Given the description of an element on the screen output the (x, y) to click on. 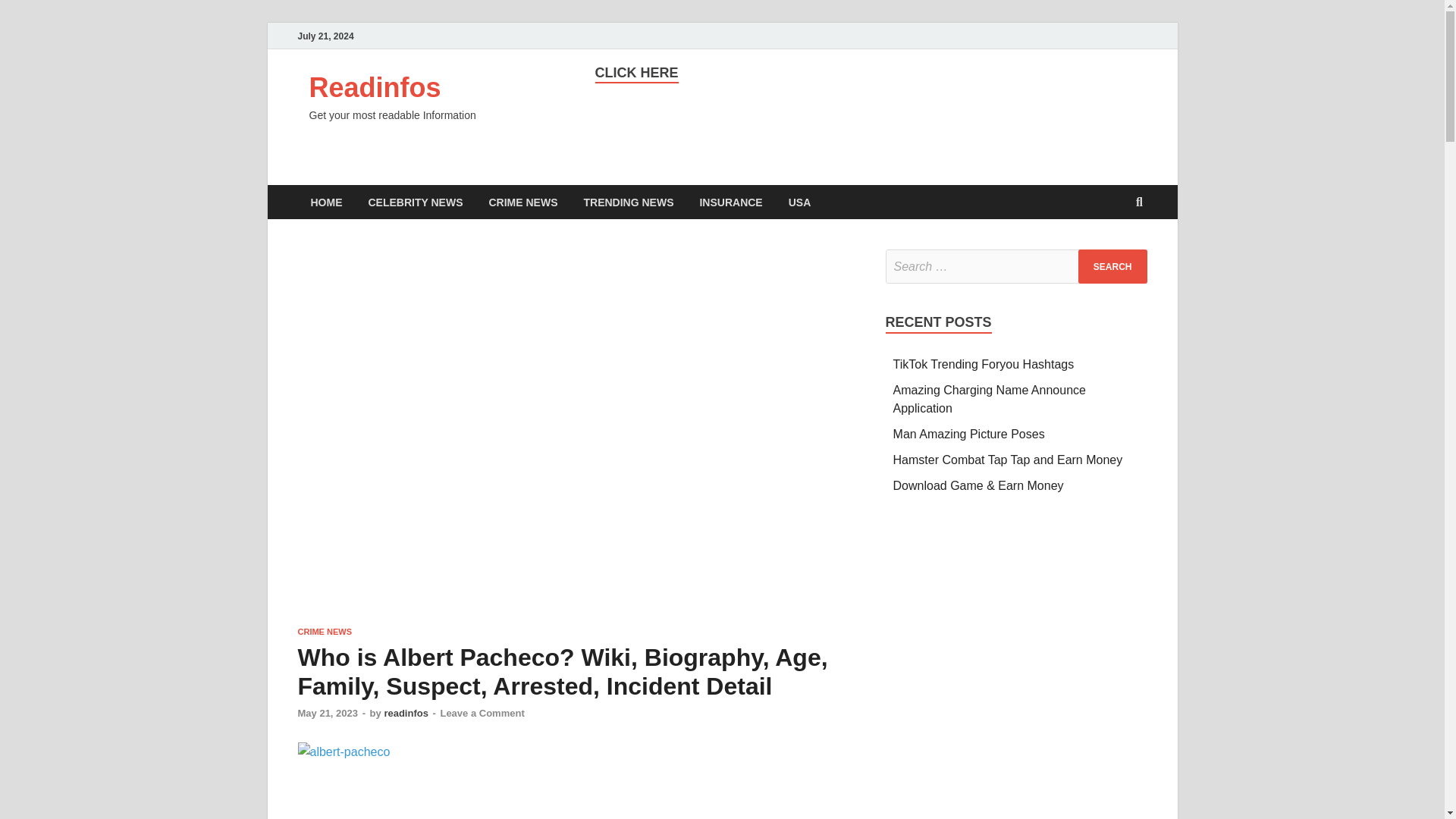
HOME (326, 202)
CELEBRITY NEWS (415, 202)
Readinfos (374, 87)
May 21, 2023 (327, 713)
CRIME NEWS (324, 631)
TRENDING NEWS (627, 202)
readinfos (406, 713)
USA (800, 202)
Search (1112, 266)
Leave a Comment (481, 713)
CRIME NEWS (523, 202)
INSURANCE (729, 202)
Search (1112, 266)
